Given the description of an element on the screen output the (x, y) to click on. 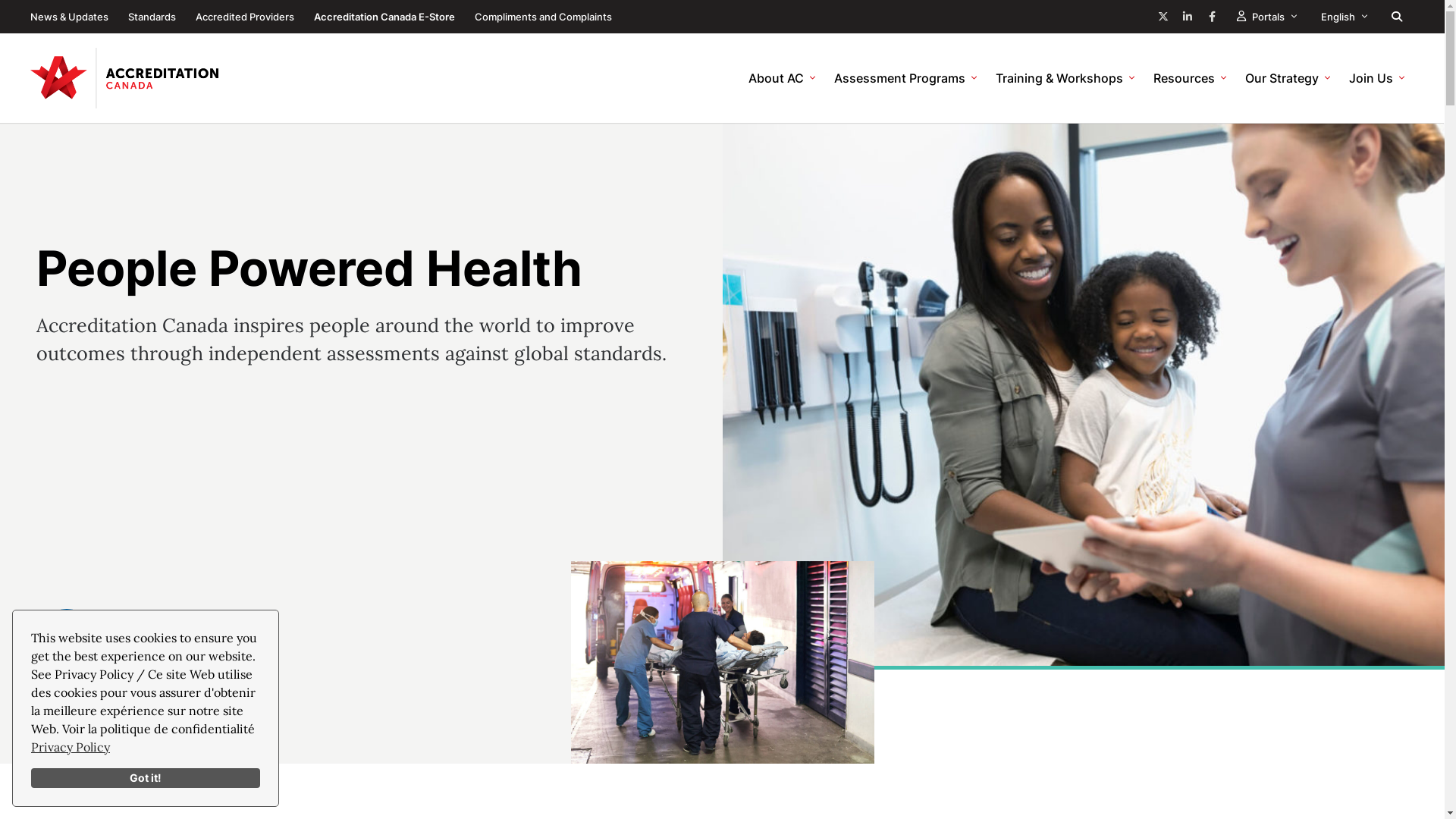
Privacy Policy Element type: text (70, 746)
Training & Workshops Element type: text (1065, 77)
Accredited Providers Element type: text (244, 16)
Assessment Programs Element type: text (905, 77)
Standards Element type: text (151, 16)
Twitter Element type: text (1163, 15)
Search Element type: text (1396, 15)
Portals Element type: text (1266, 15)
Our Strategy Element type: text (1287, 77)
Join Us Element type: text (1376, 77)
Resources Element type: text (1190, 77)
News & Updates Element type: text (69, 16)
Got it! Element type: text (145, 777)
Accreditation Canada E-Store Element type: text (384, 16)
English Element type: text (1343, 16)
LinkedIn Element type: text (1187, 15)
Compliments and Complaints Element type: text (542, 16)
About AC Element type: text (782, 77)
Facebook Element type: text (1211, 15)
